Given the description of an element on the screen output the (x, y) to click on. 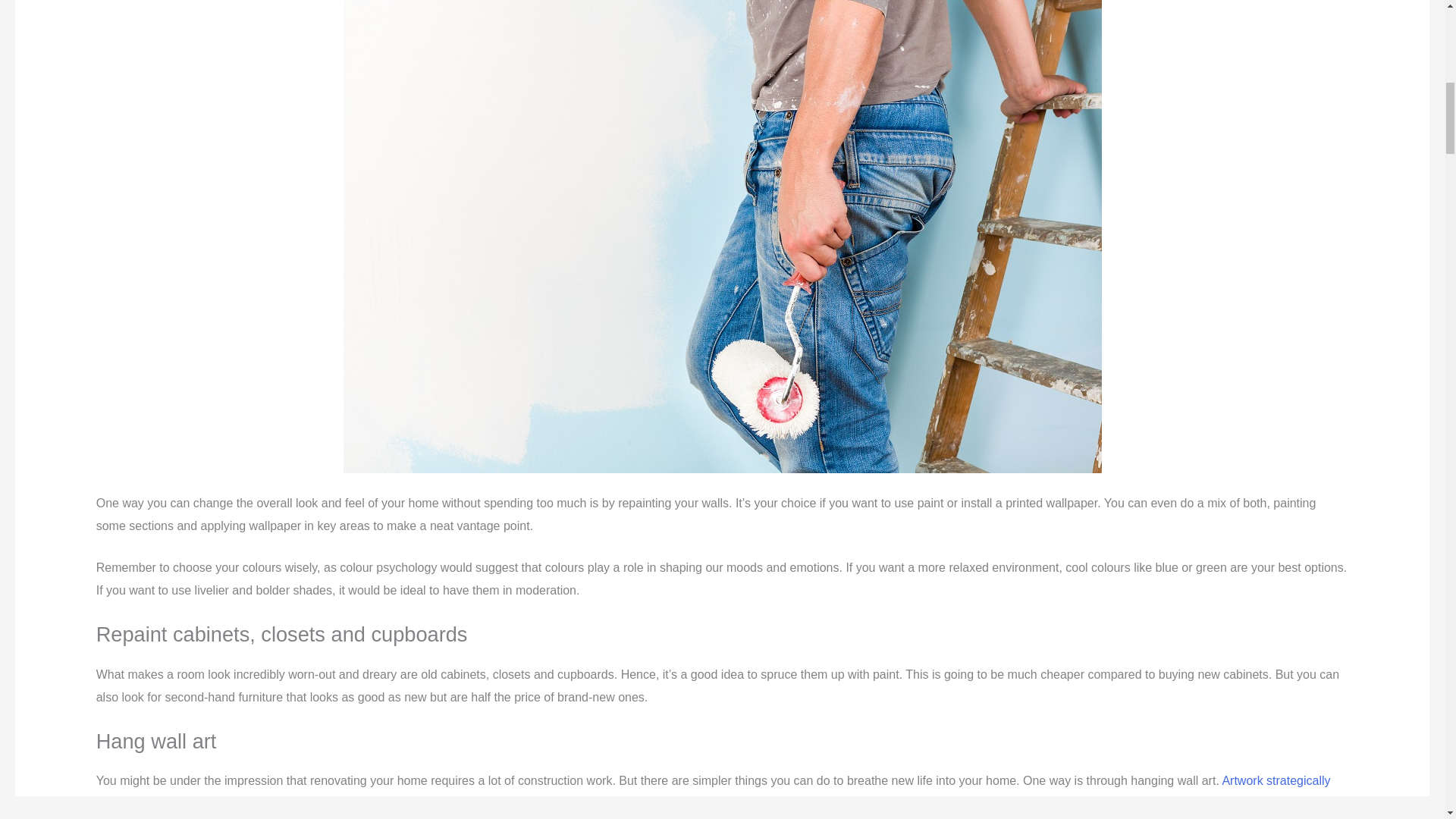
Artwork strategically and creatively positioned on walls (713, 791)
The Guardian (713, 791)
